Given the description of an element on the screen output the (x, y) to click on. 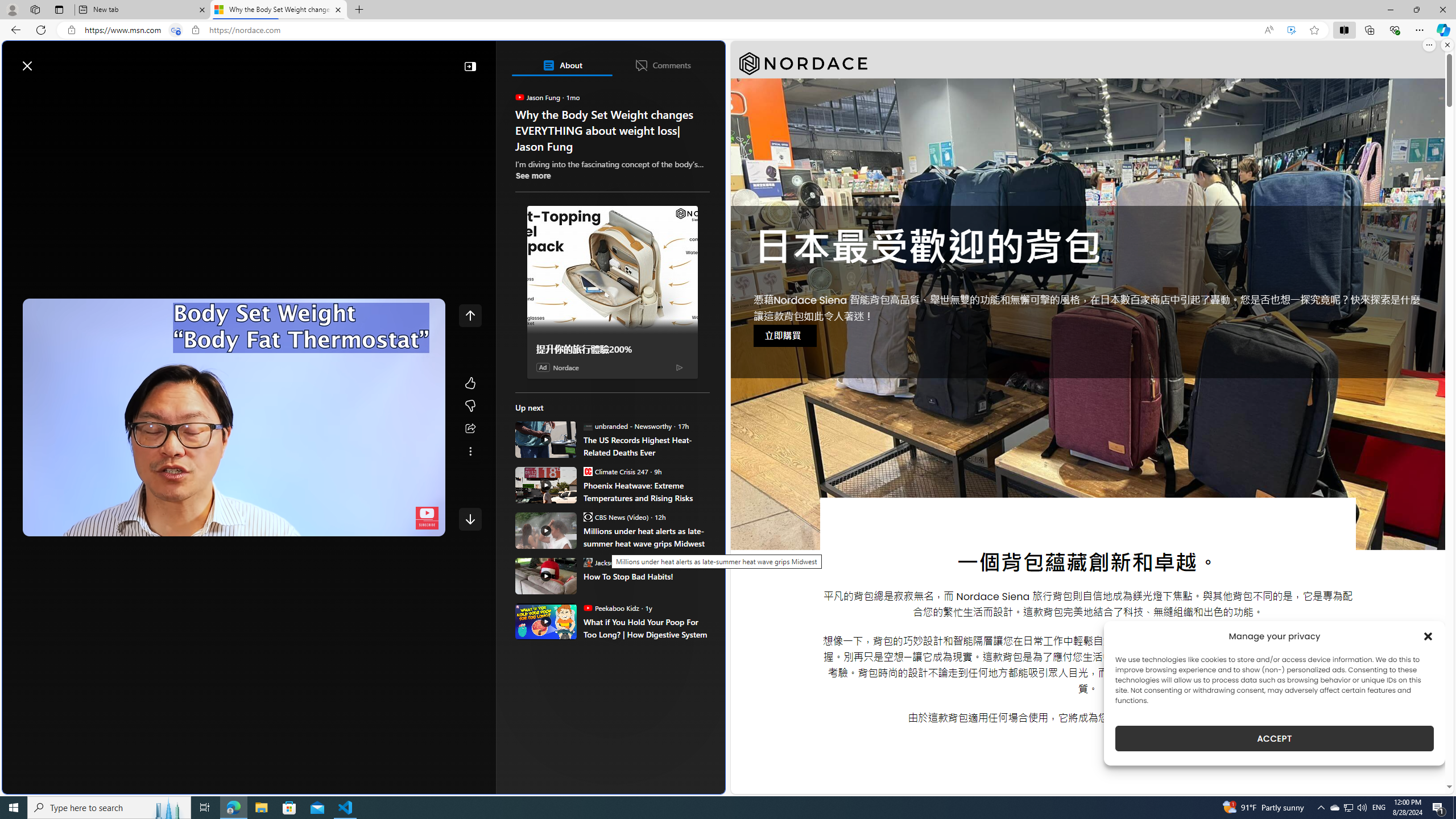
New Tab (358, 9)
Nordace (566, 366)
Class: cmplz-close (1428, 636)
Class: ytp-subtitles-button-icon (343, 525)
See more (469, 451)
Unmute (m) (66, 525)
The Associated Press (554, 366)
Read aloud this page (Ctrl+Shift+U) (1268, 29)
Jason Fung (519, 96)
Seek slider (233, 512)
ACCEPT (1274, 738)
